Given the description of an element on the screen output the (x, y) to click on. 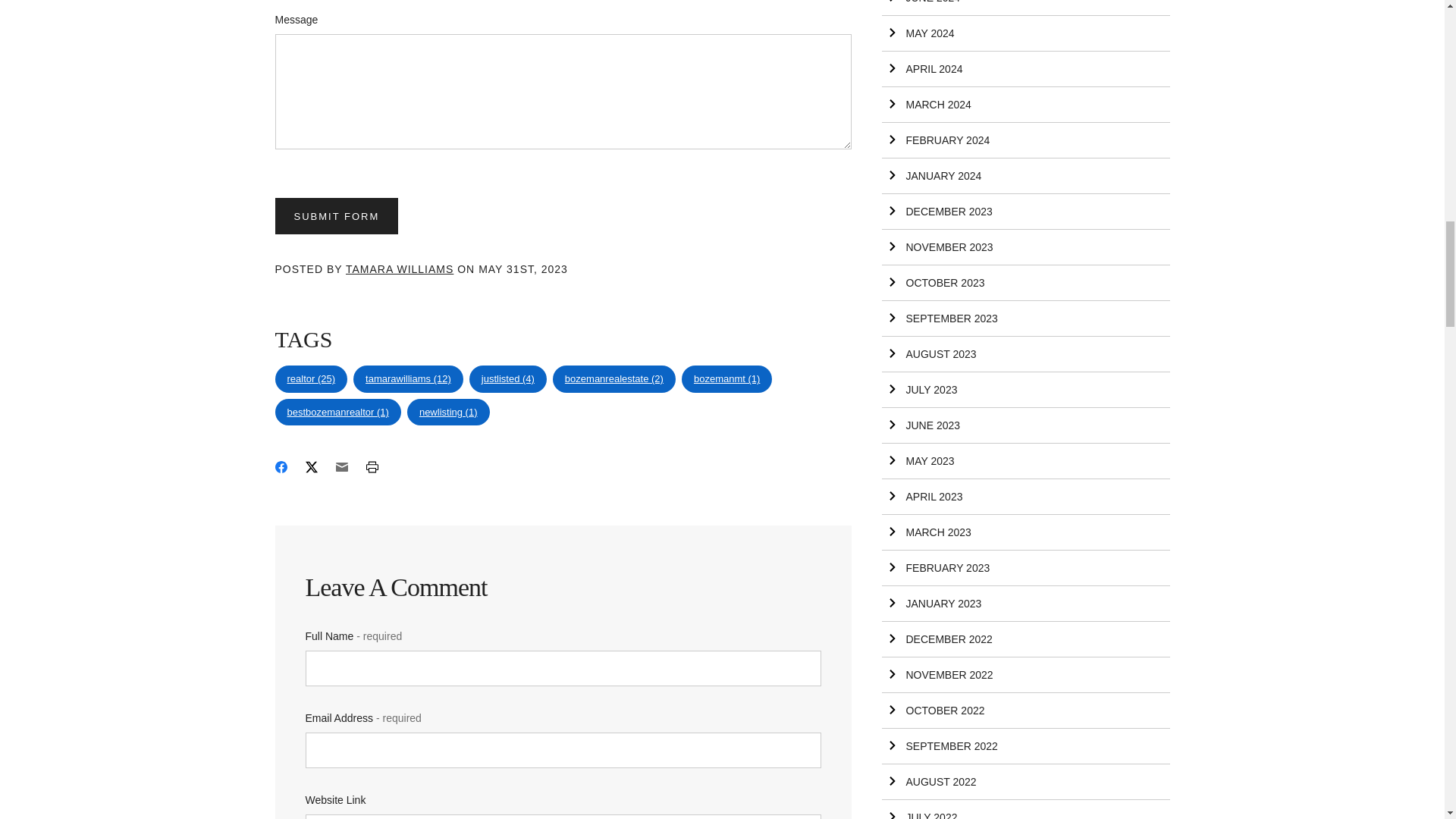
bozemanrealestate (614, 379)
newlisting (448, 411)
realtor (311, 379)
bozemanmt (726, 379)
justlisted (507, 379)
tamarawilliams (408, 379)
bestbozemanrealtor (337, 411)
